Given the description of an element on the screen output the (x, y) to click on. 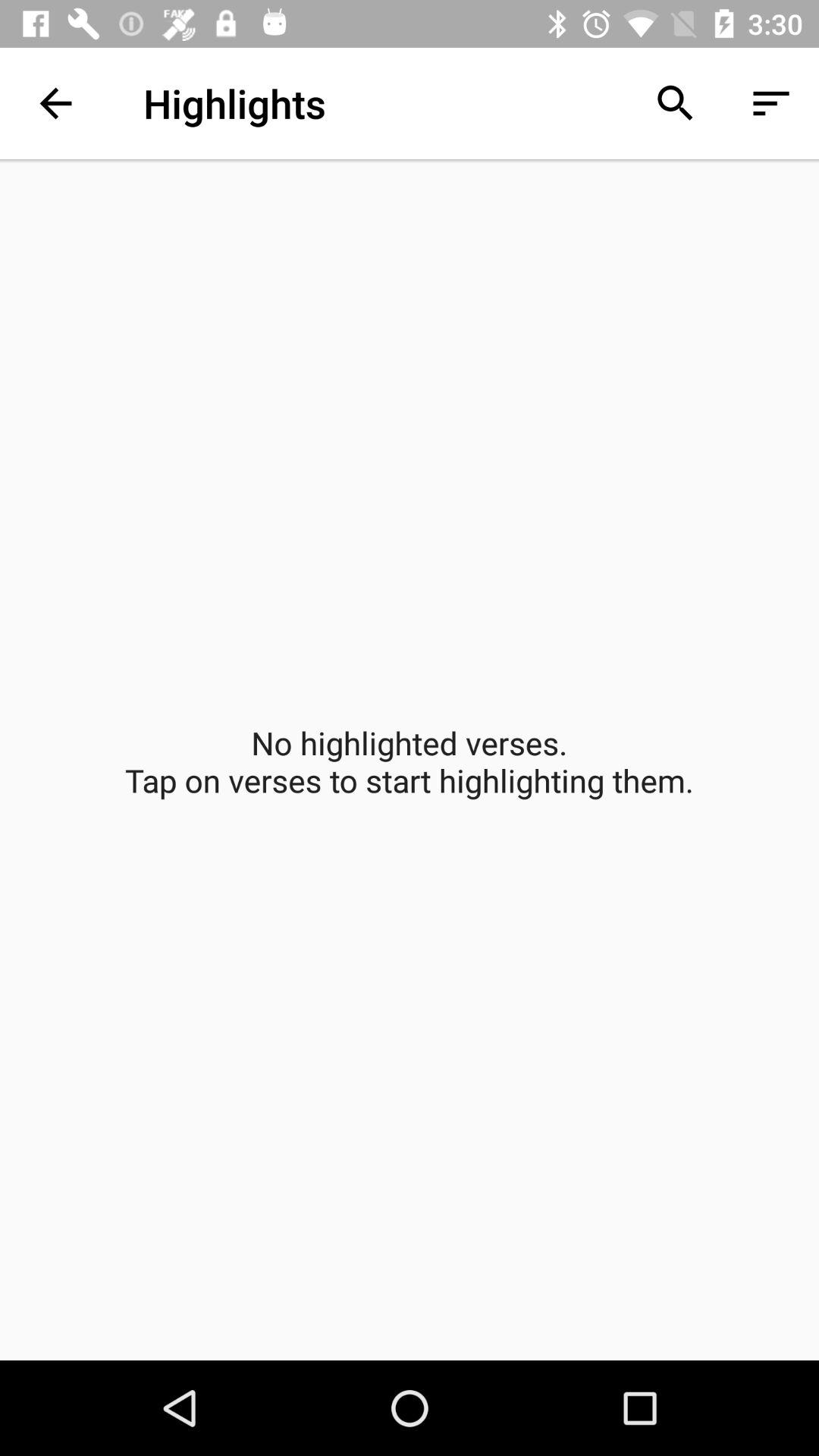
turn off the app to the right of highlights app (675, 103)
